Given the description of an element on the screen output the (x, y) to click on. 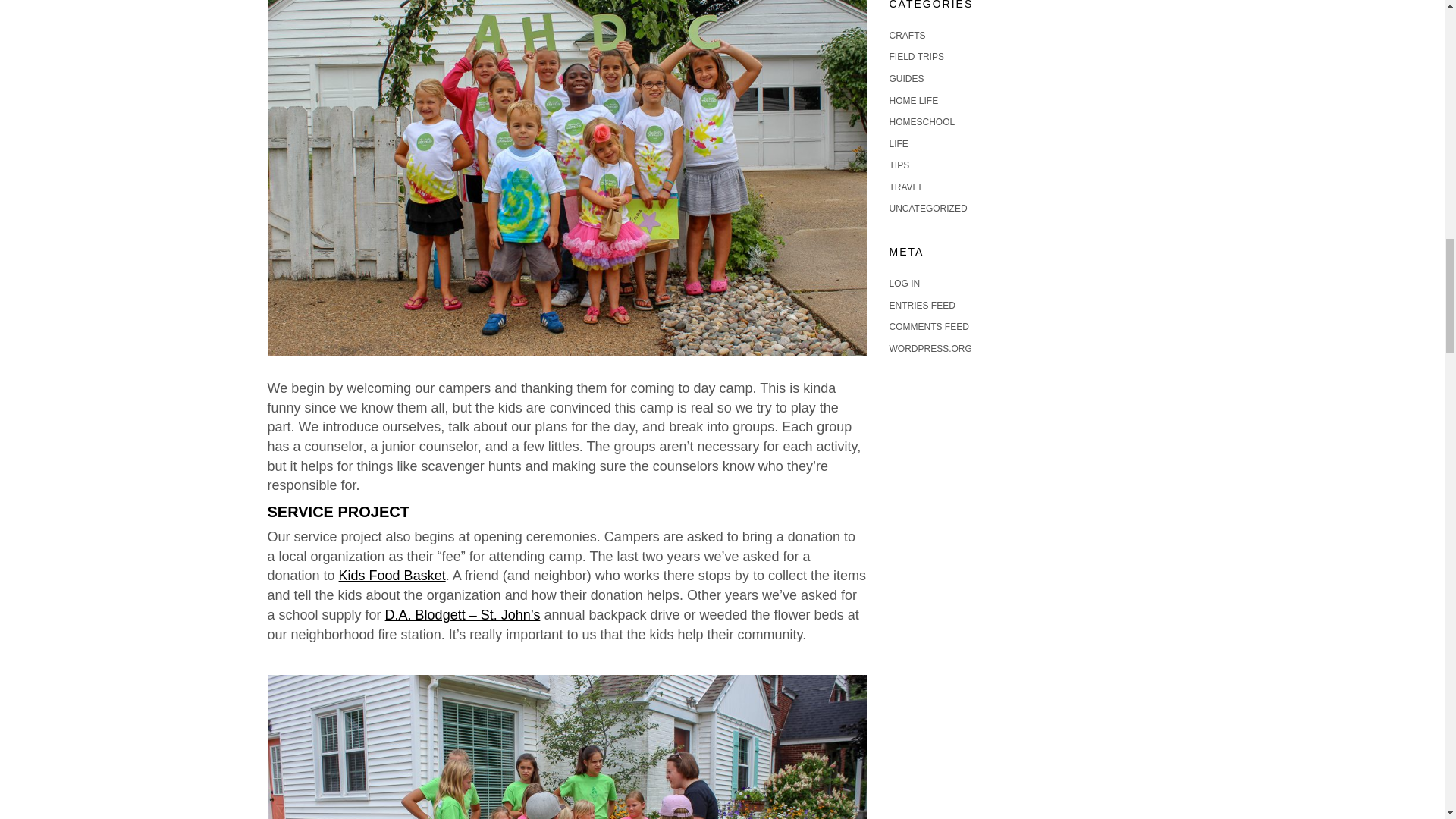
Kids Food Basket (392, 575)
